Given the description of an element on the screen output the (x, y) to click on. 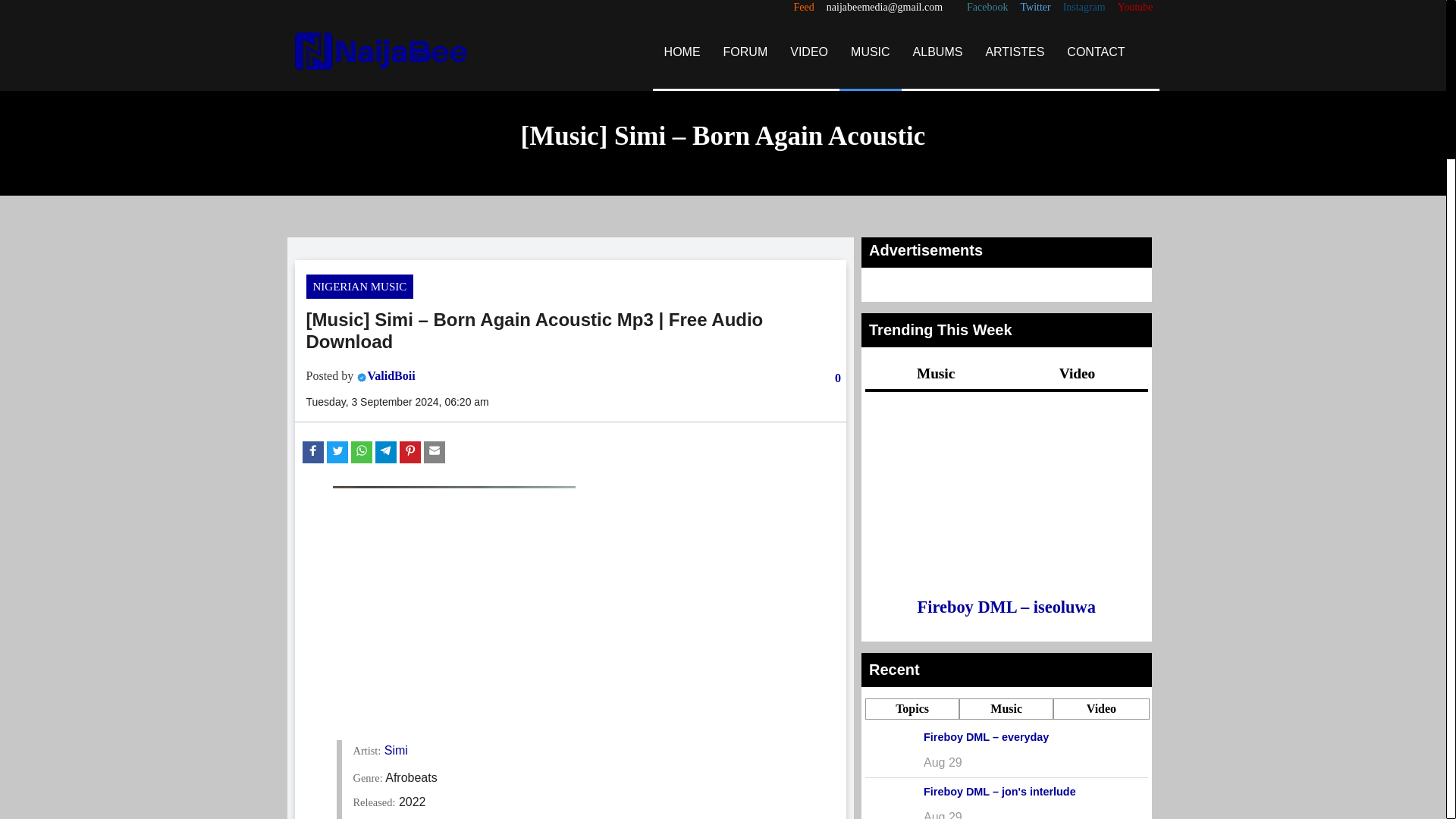
ARTISTES (1014, 51)
ALBUMS (937, 51)
Simi (395, 749)
FORUM (744, 51)
CONTACT (1095, 51)
Facebook (986, 7)
Feed (803, 7)
NIGERIAN MUSIC (359, 286)
Instagram (1083, 7)
Twitter (1034, 7)
